Given the description of an element on the screen output the (x, y) to click on. 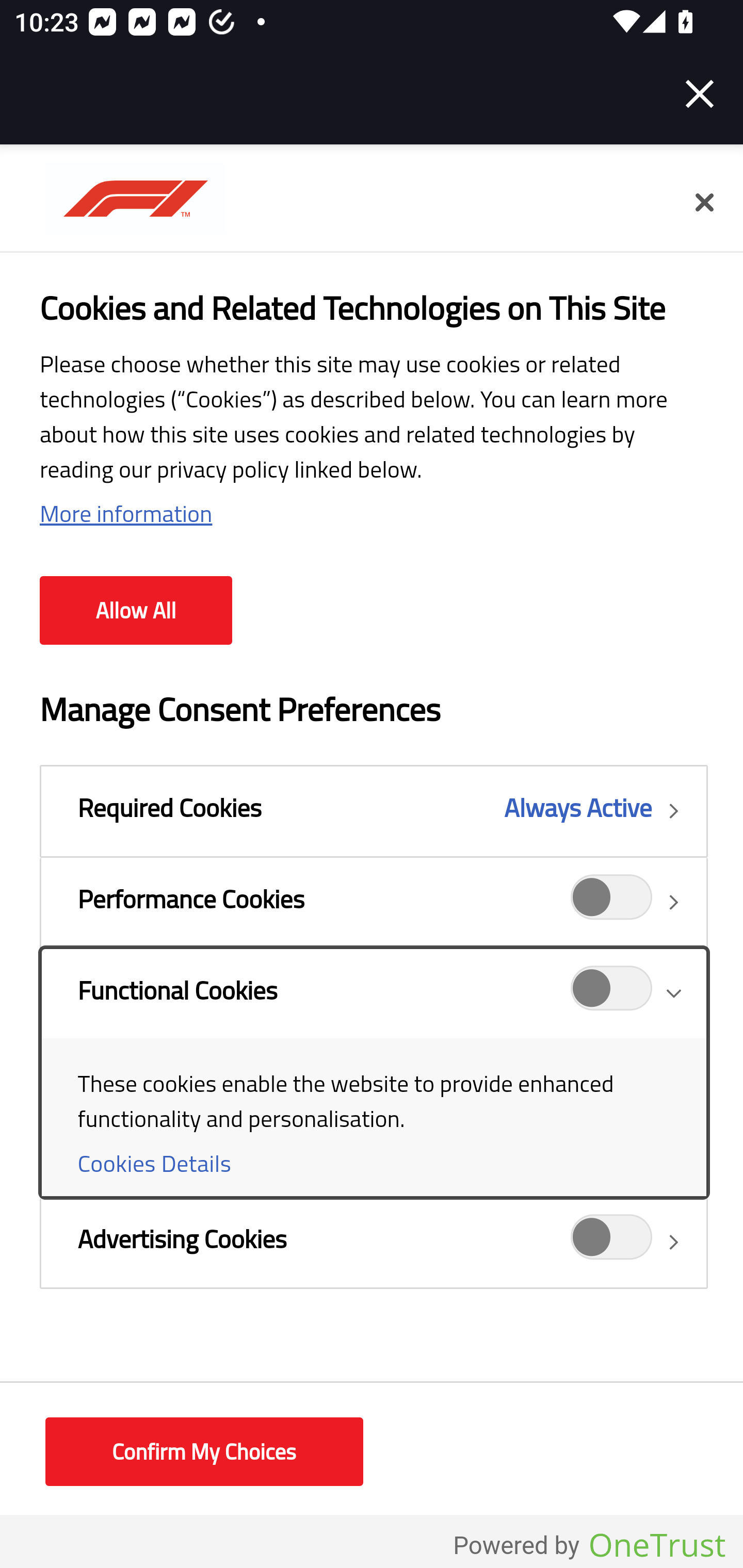
Close (699, 93)
Close (703, 203)
Allow All (135, 610)
Required Cookies (373, 811)
Performance Cookies (373, 902)
Performance Cookies (611, 902)
Functional Cookies (373, 1071)
Functional Cookies (611, 994)
Advertising Cookies (373, 1242)
Advertising Cookies (611, 1243)
Confirm My Choices (203, 1452)
Powered by OneTrust Opens in a new Tab (589, 1546)
